Given the description of an element on the screen output the (x, y) to click on. 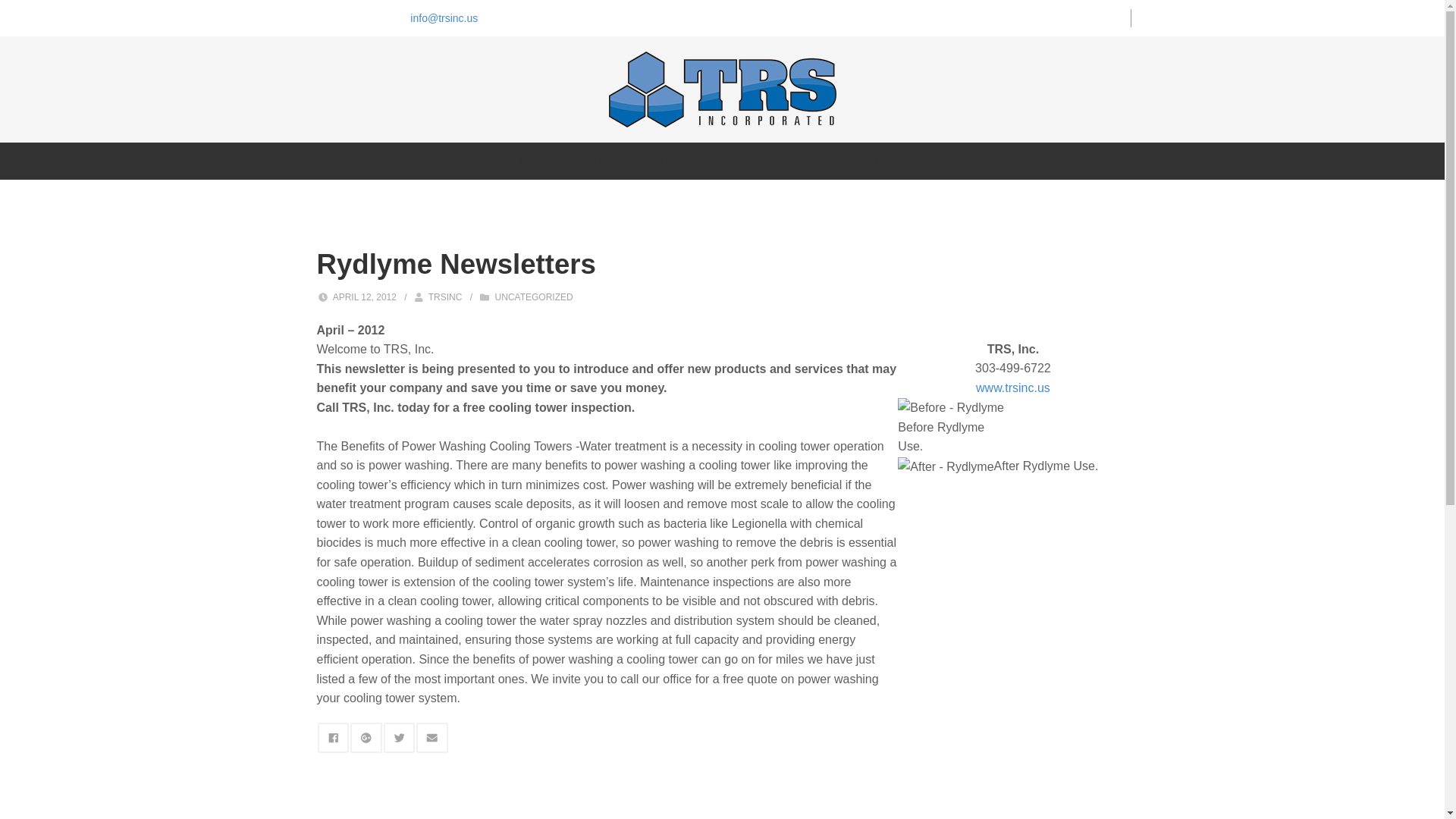
Blog (973, 160)
www.trsinc.us (1012, 387)
Home (473, 160)
View all posts by TRSinc (445, 296)
Contact Us (903, 160)
Resources (813, 160)
News (739, 160)
Company Profile (565, 160)
Services (668, 160)
TRS Incorporated (721, 89)
